Given the description of an element on the screen output the (x, y) to click on. 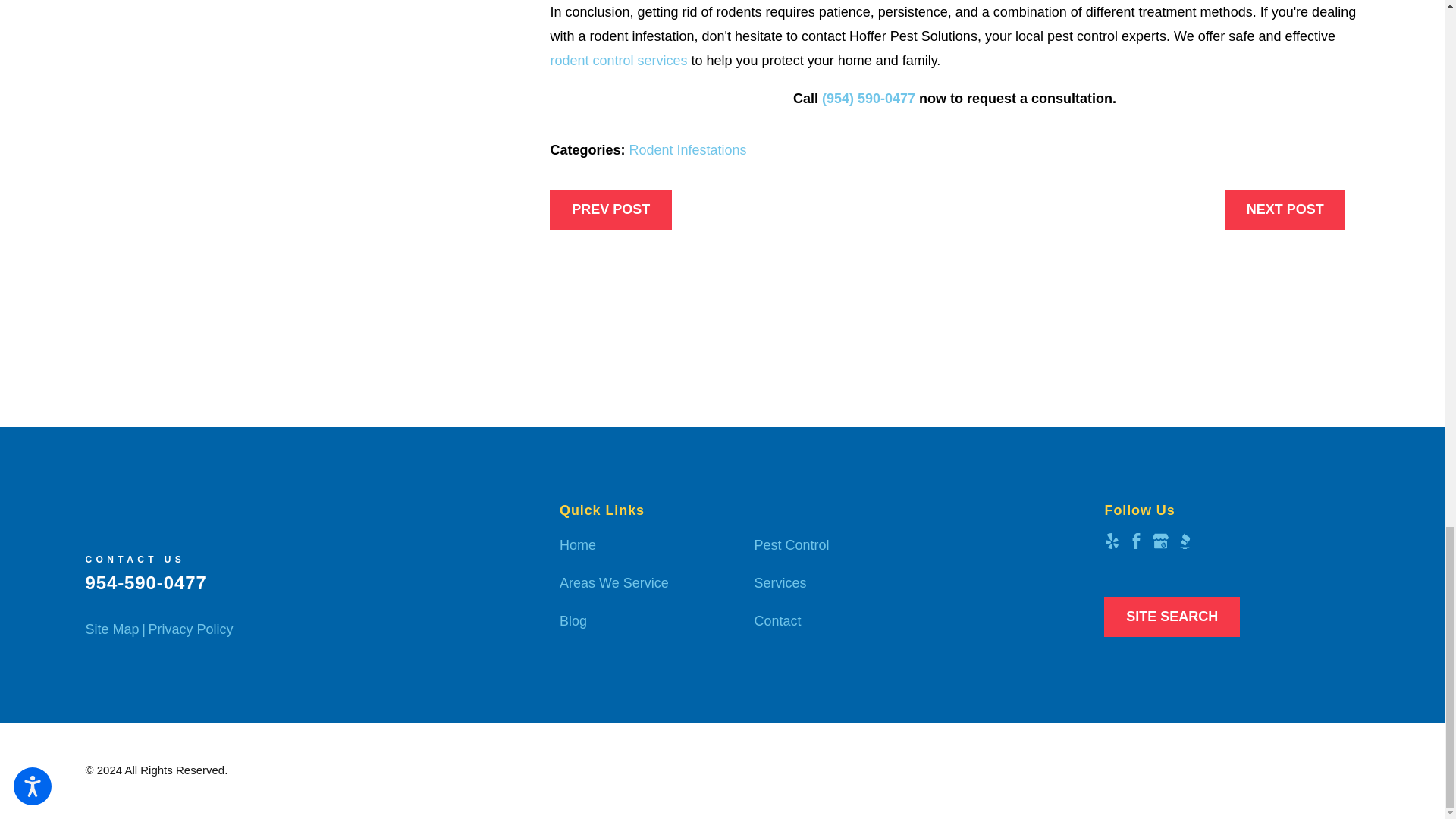
Yelp (1111, 540)
Google Business Profile (1161, 540)
Facebook (1136, 540)
BBB.org (1184, 540)
